Given the description of an element on the screen output the (x, y) to click on. 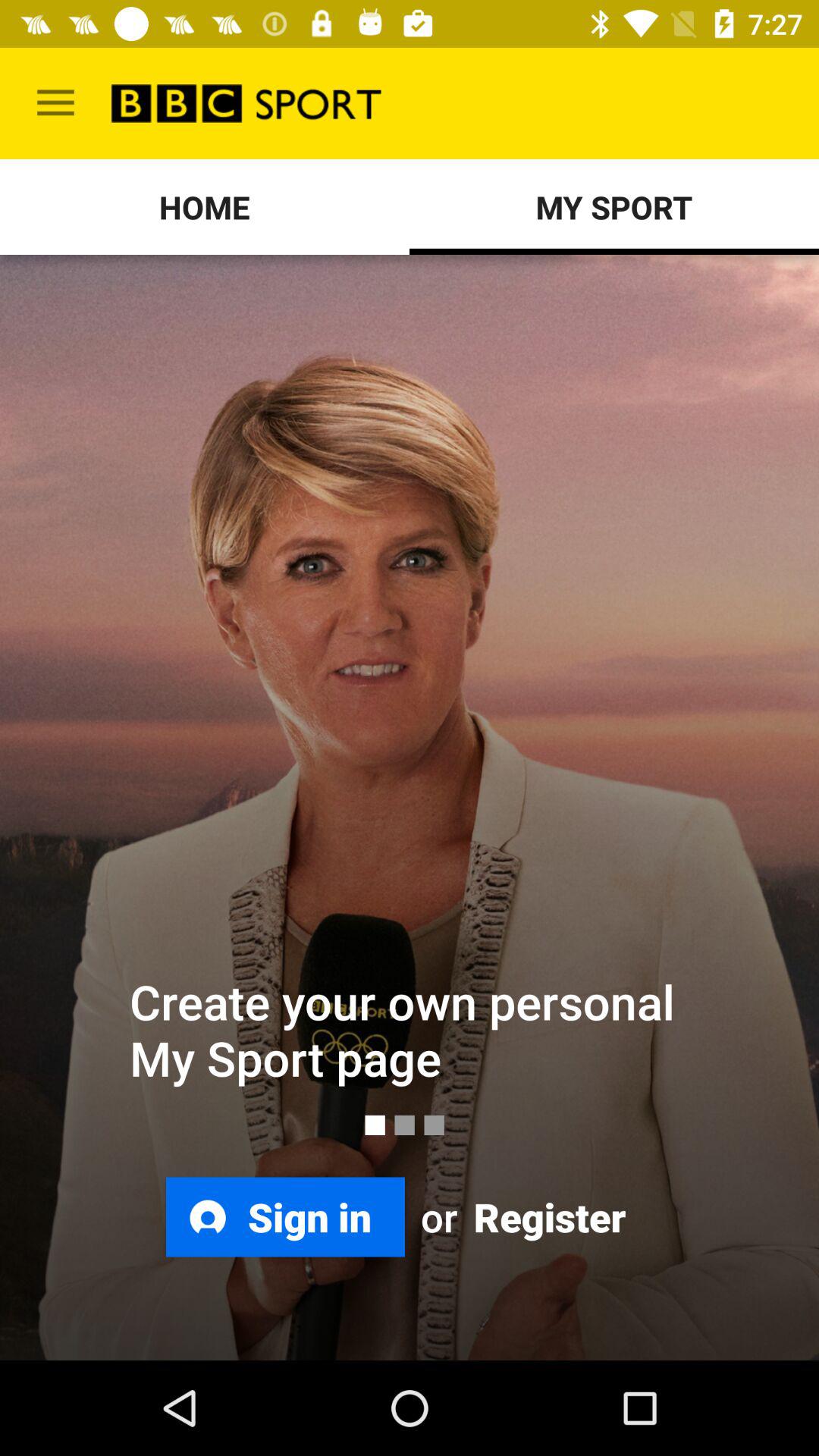
turn off the icon to the left of the my sport icon (204, 206)
